Given the description of an element on the screen output the (x, y) to click on. 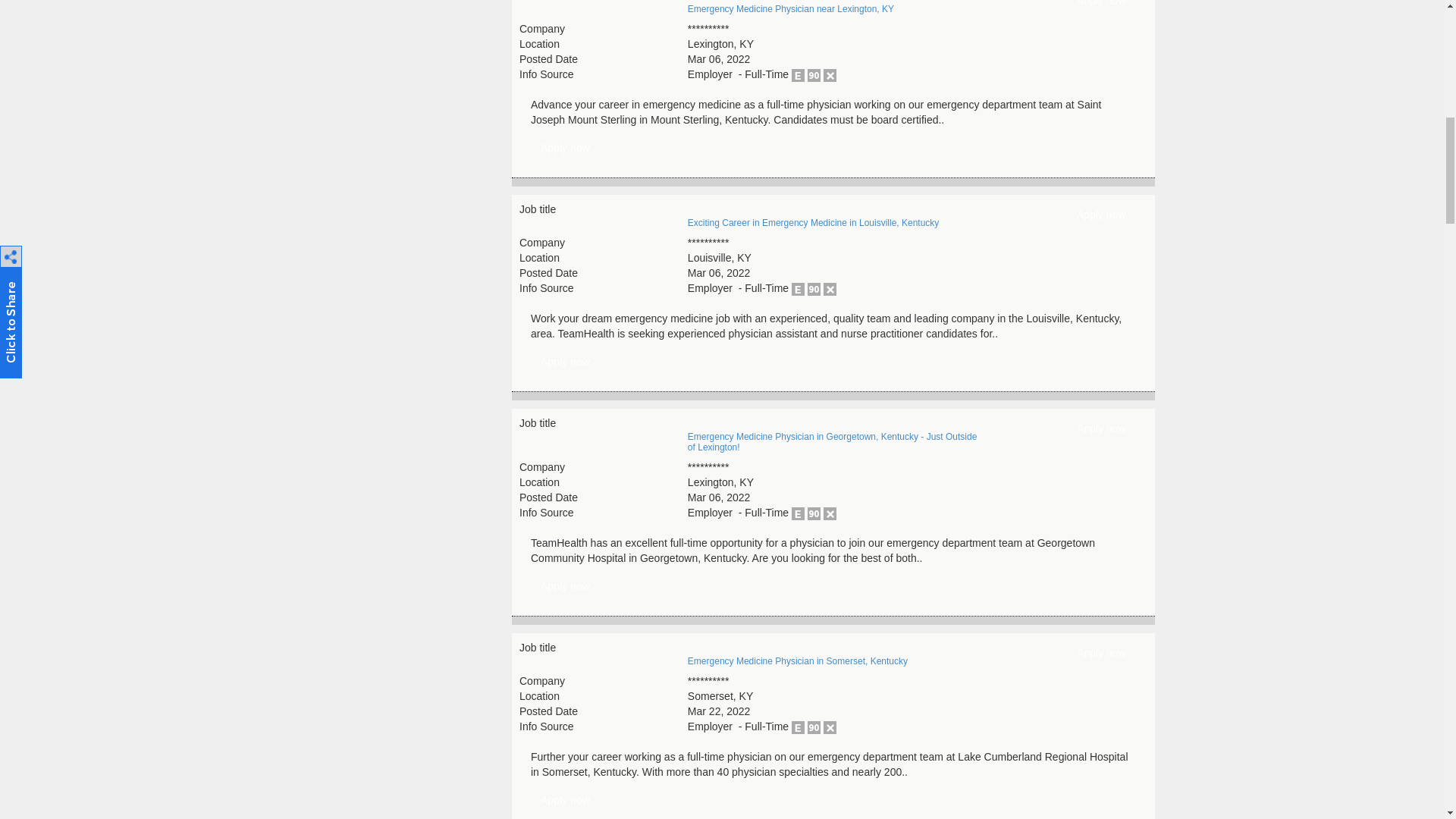
Emergency Medicine Physician near Lexington, KY (790, 9)
90 (814, 288)
Emergency Medicine Physician near Lexington, KY (1101, 7)
Emergency Medicine Physician near Lexington, KY (565, 148)
90 (814, 74)
